Given the description of an element on the screen output the (x, y) to click on. 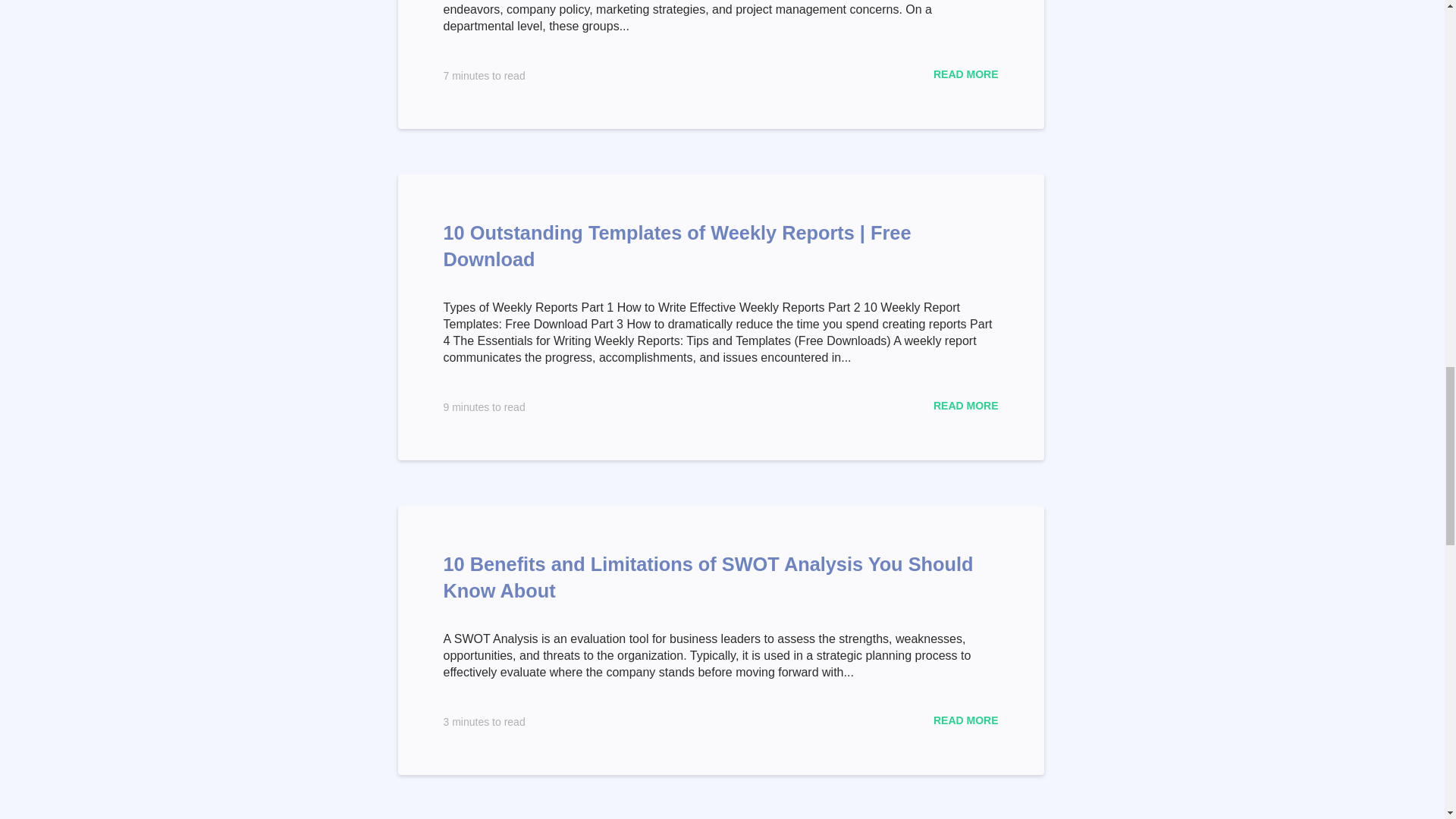
READ MORE (965, 405)
READ MORE (965, 719)
READ MORE (965, 73)
